Given the description of an element on the screen output the (x, y) to click on. 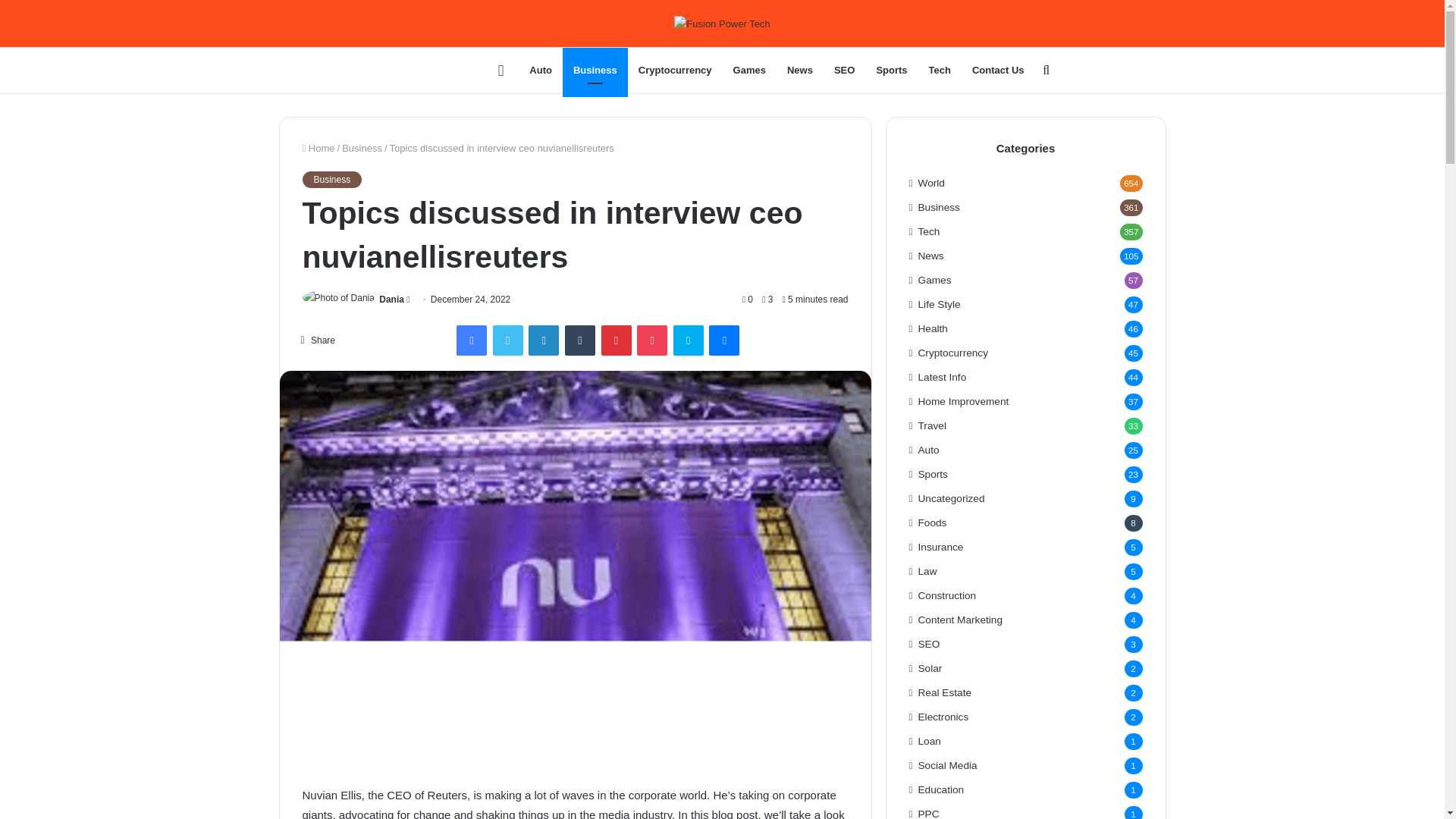
Pinterest (616, 340)
Facebook (471, 340)
LinkedIn (543, 340)
Twitter (507, 340)
Business (361, 147)
Contact Us (997, 70)
Dania (391, 299)
Skype (687, 340)
Fusion Power Tech (722, 23)
Cryptocurrency (674, 70)
Fusion Power Tech (434, 70)
Pocket (651, 340)
Home (317, 147)
Pinterest (616, 340)
Games (749, 70)
